Given the description of an element on the screen output the (x, y) to click on. 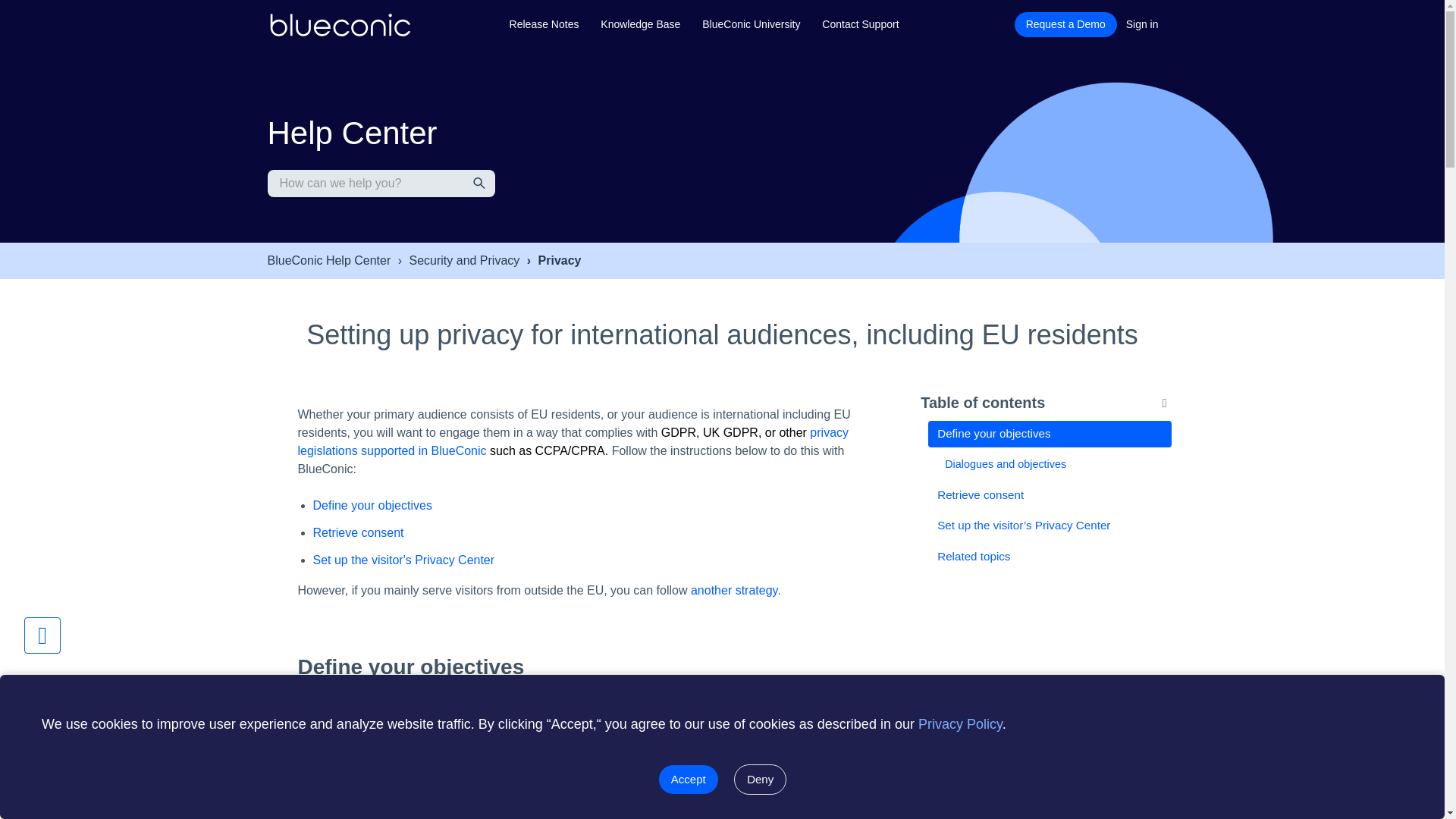
BlueConic Help Center (328, 260)
Dialogues and objectives (1053, 464)
Return to top (42, 635)
Request a Demo (1065, 24)
another strategy (733, 590)
Privacy (551, 260)
BlueConic University (750, 24)
Retrieve consent (358, 532)
Knowledge Base (639, 24)
Contact Support (860, 24)
